Given the description of an element on the screen output the (x, y) to click on. 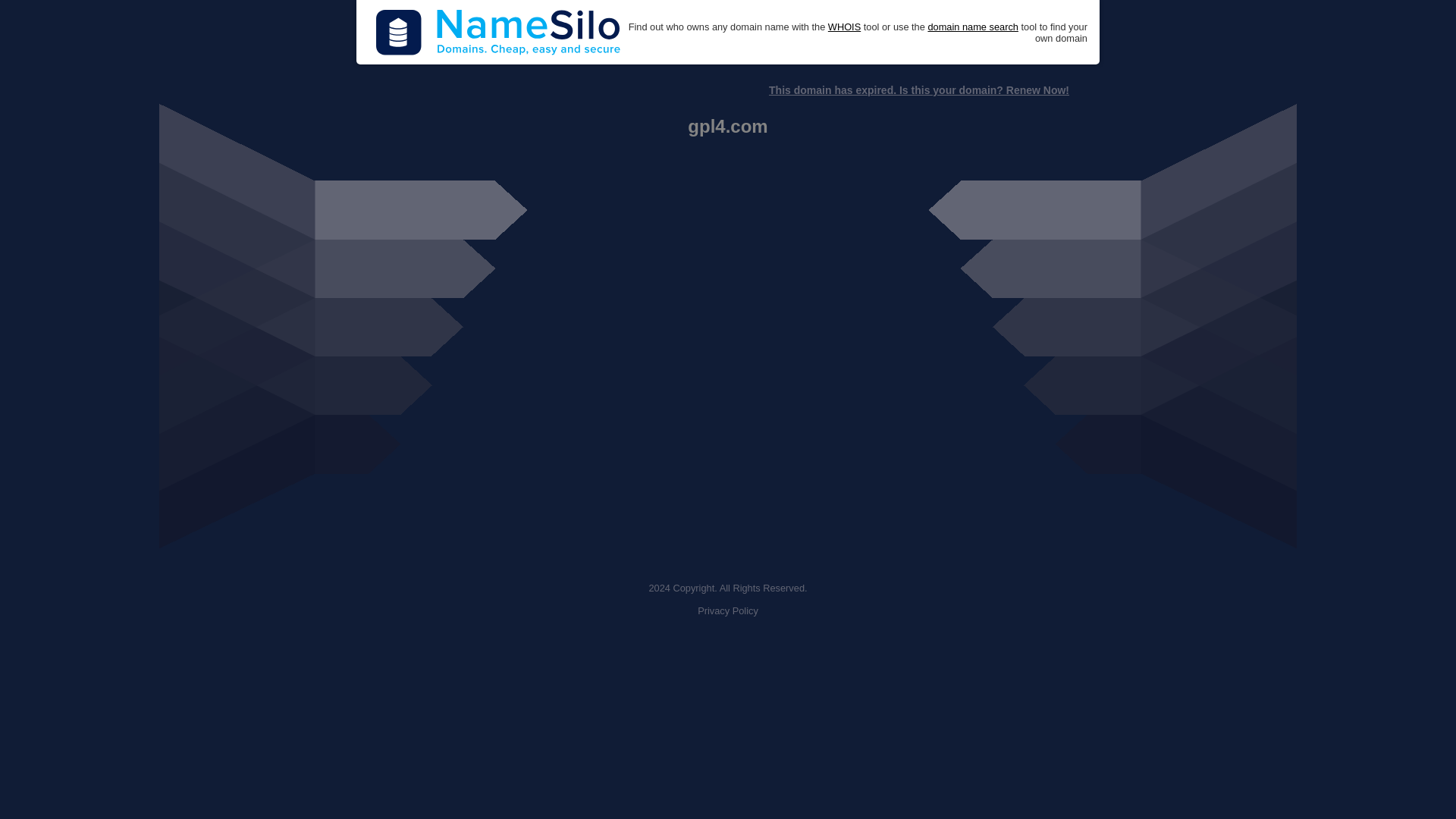
Privacy Policy (727, 610)
WHOIS (844, 26)
domain name search (972, 26)
This domain has expired. Is this your domain? Renew Now! (918, 90)
